Given the description of an element on the screen output the (x, y) to click on. 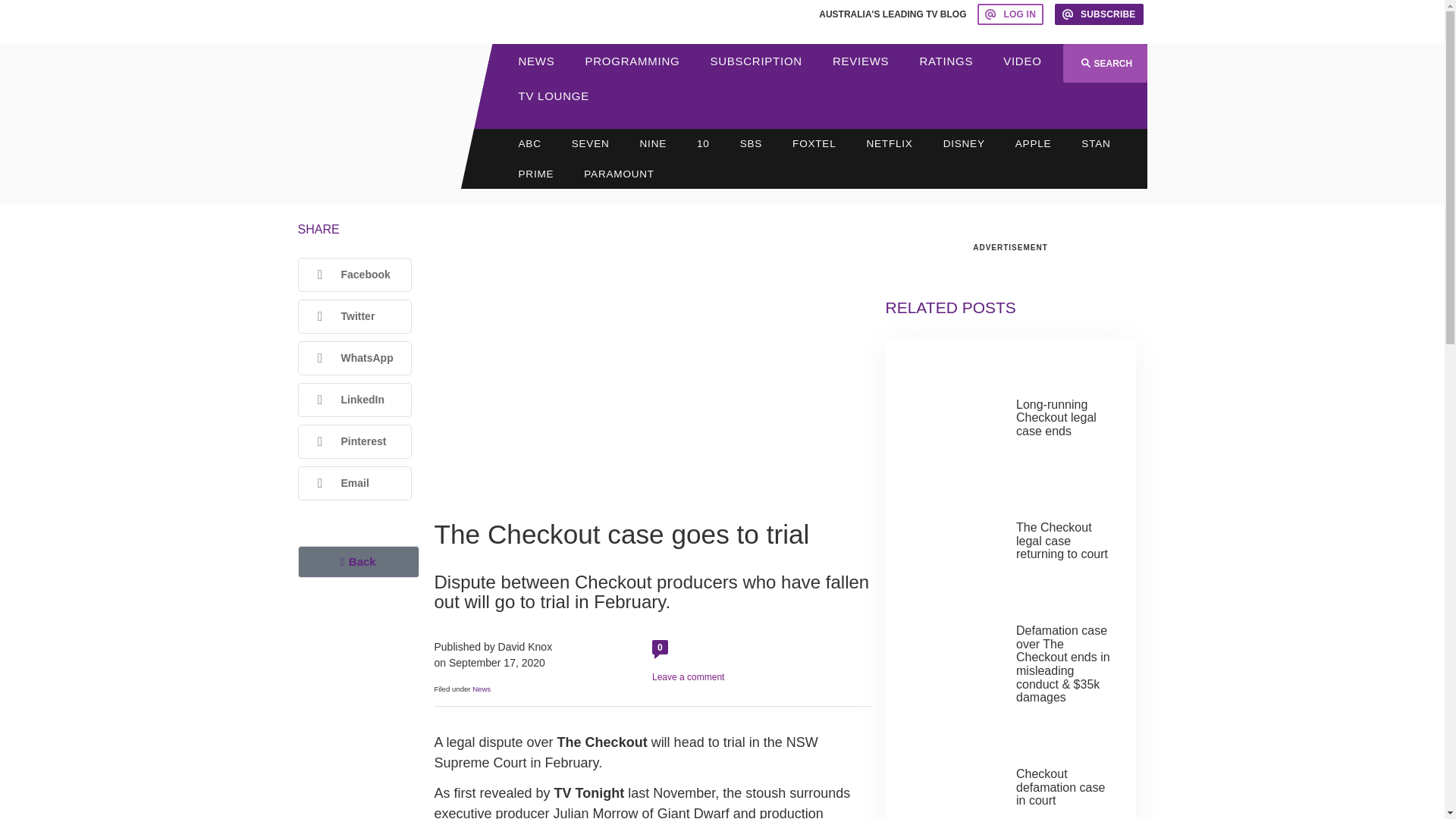
SUBSCRIPTION (755, 61)
PROGRAMMING (632, 61)
REVIEWS (860, 61)
NEWS (536, 61)
VIDEO (1022, 61)
RATINGS (946, 61)
TV LOUNGE (553, 95)
ABC (529, 143)
LOG IN (1010, 14)
SEARCH (1104, 63)
